Given the description of an element on the screen output the (x, y) to click on. 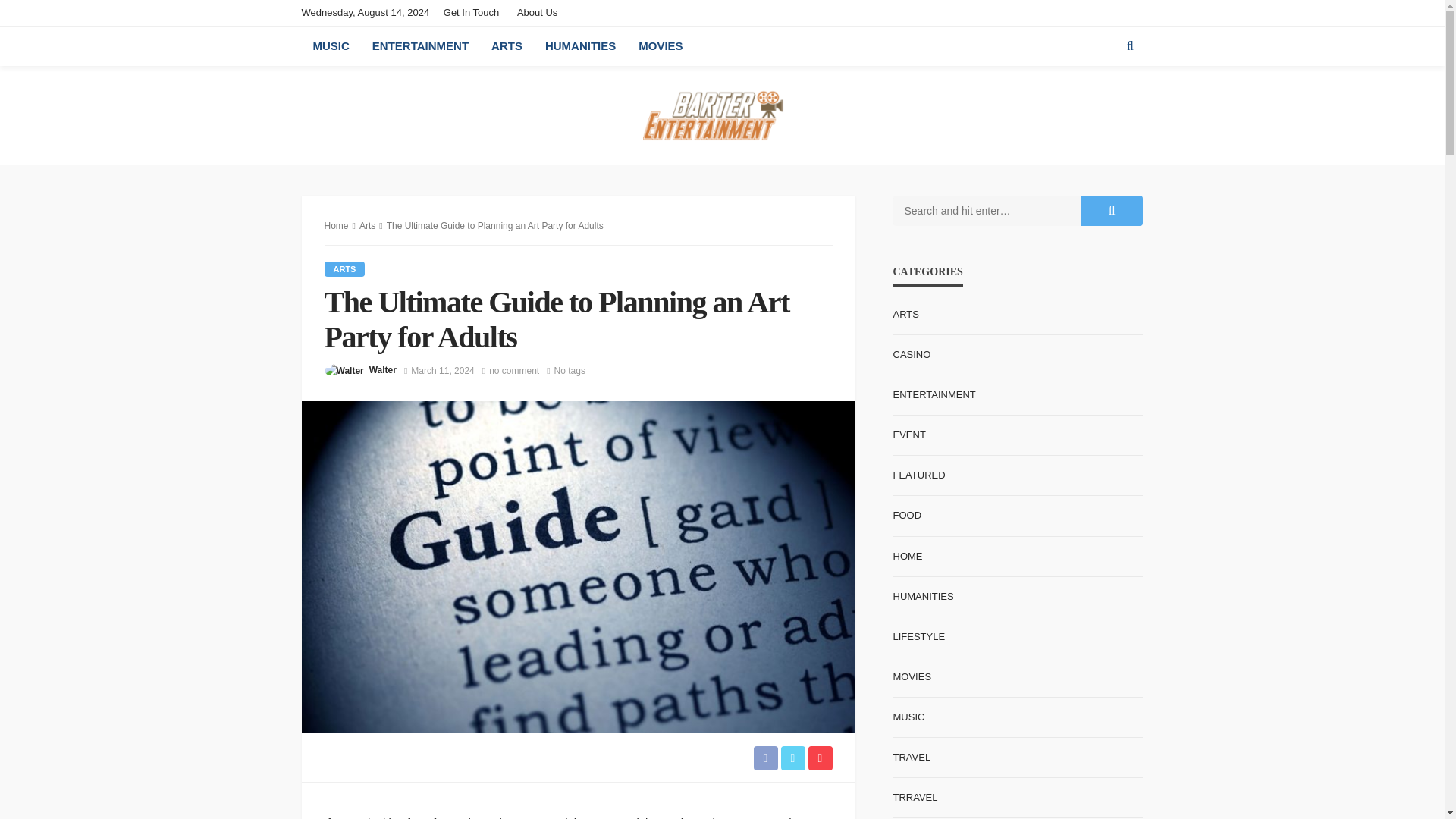
no comment (513, 370)
Arts (367, 225)
About Us (536, 12)
Arts (344, 268)
The Ultimate Guide to Planning an Art Party for Adults (513, 370)
Walter (382, 369)
ARTS (507, 46)
MUSIC (331, 46)
MOVIES (660, 46)
Home (336, 225)
